Given the description of an element on the screen output the (x, y) to click on. 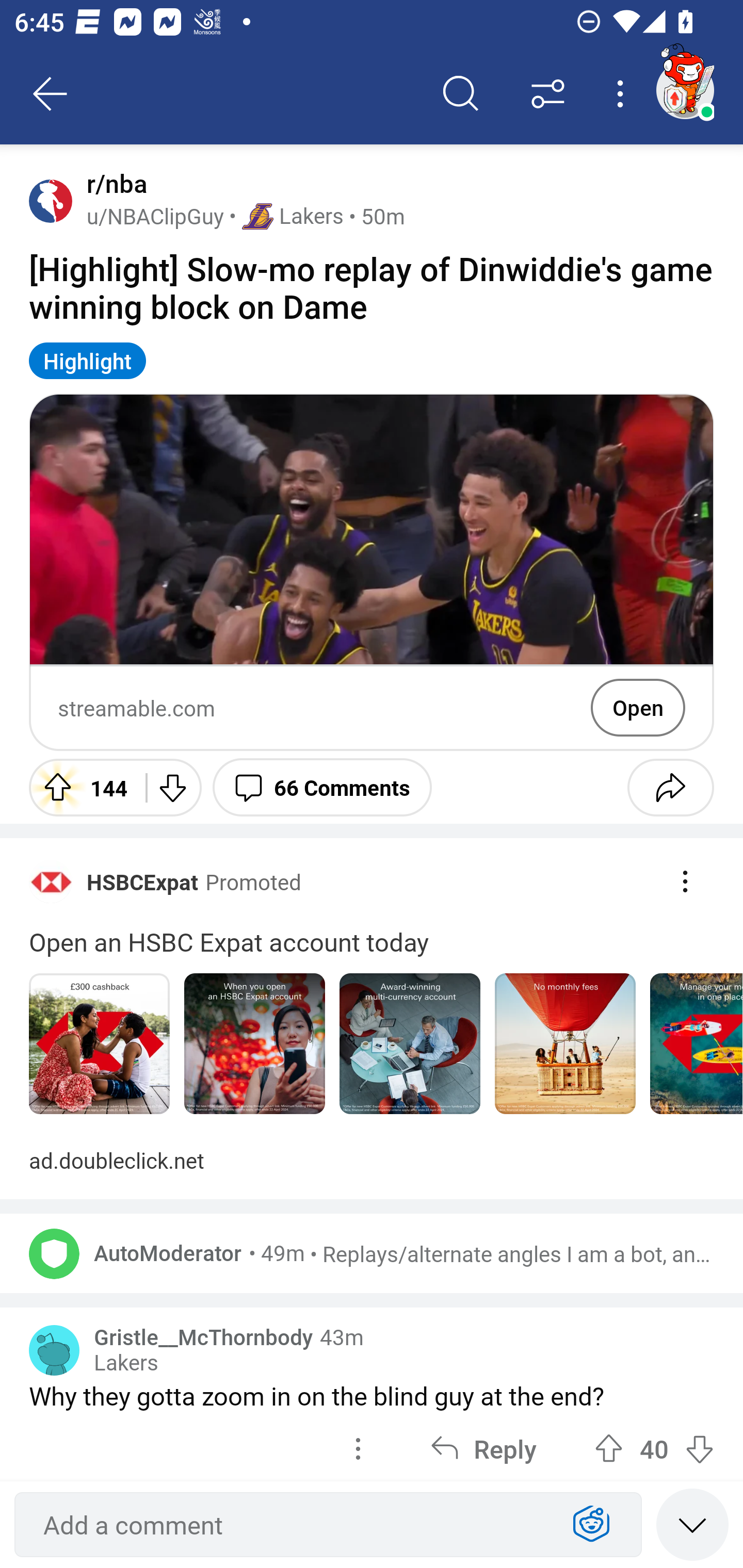
Back (50, 93)
TestAppium002 account (685, 90)
Search comments (460, 93)
Sort comments (547, 93)
More options (623, 93)
r/nba (113, 183)
Avatar (50, 200)
Highlight (87, 360)
Preview Image streamable.com Open (371, 572)
Open (637, 707)
Upvote 144 (79, 787)
Downvote (171, 787)
66 Comments (321, 787)
Share (670, 787)
Image 1 of 5.  (98, 1043)
Image 2 of 5.  (254, 1043)
Image 3 of 5.  (409, 1043)
Image 4 of 5.  (565, 1043)
Image 5 of 5.  (696, 1043)
Avatar (53, 1253)
Avatar (53, 1349)
options (358, 1446)
Reply (483, 1446)
Upvote 40 40 votes Downvote (654, 1446)
Speed read (692, 1524)
Add a comment (291, 1524)
Show Expressions (590, 1524)
